Given the description of an element on the screen output the (x, y) to click on. 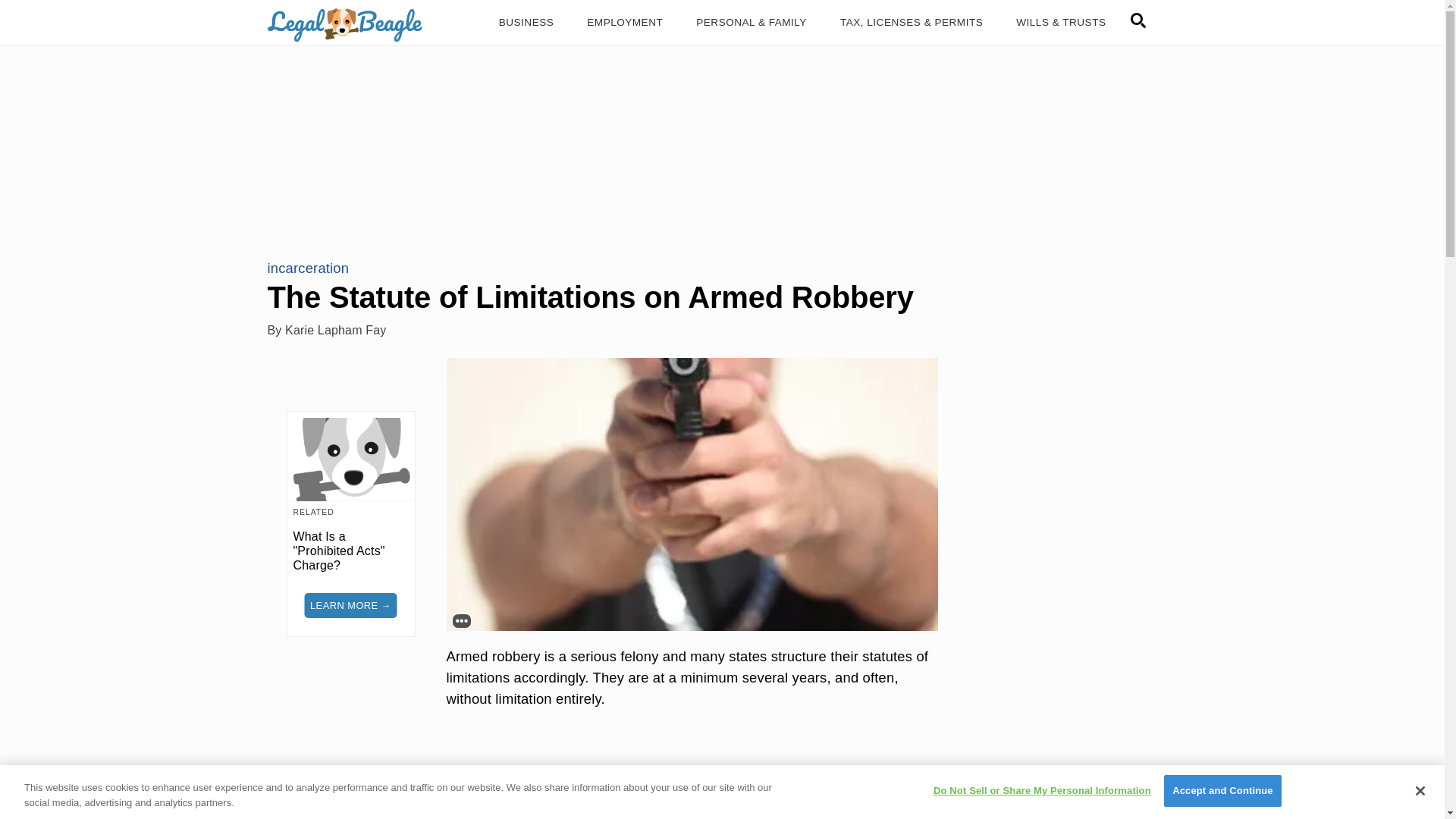
3rd party ad content (721, 140)
3rd party ad content (1062, 657)
BUSINESS (526, 22)
Advertisement (691, 773)
EMPLOYMENT (624, 22)
